Given the description of an element on the screen output the (x, y) to click on. 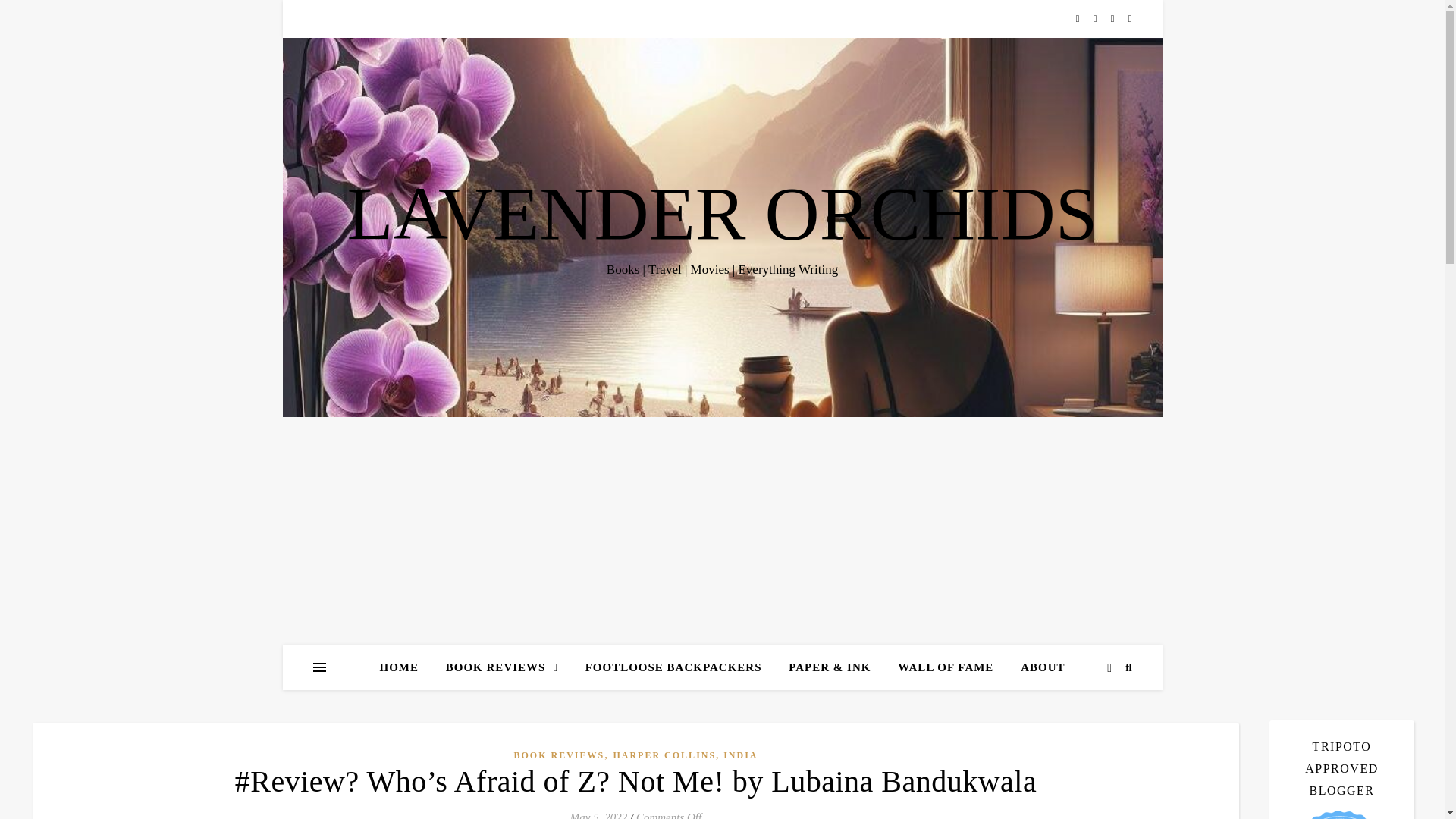
LAVENDER ORCHIDS (721, 213)
FOOTLOOSE BACKPACKERS (673, 667)
BOOK REVIEWS (501, 667)
WALL OF FAME (945, 667)
HOME (405, 667)
ABOUT (1036, 667)
